Given the description of an element on the screen output the (x, y) to click on. 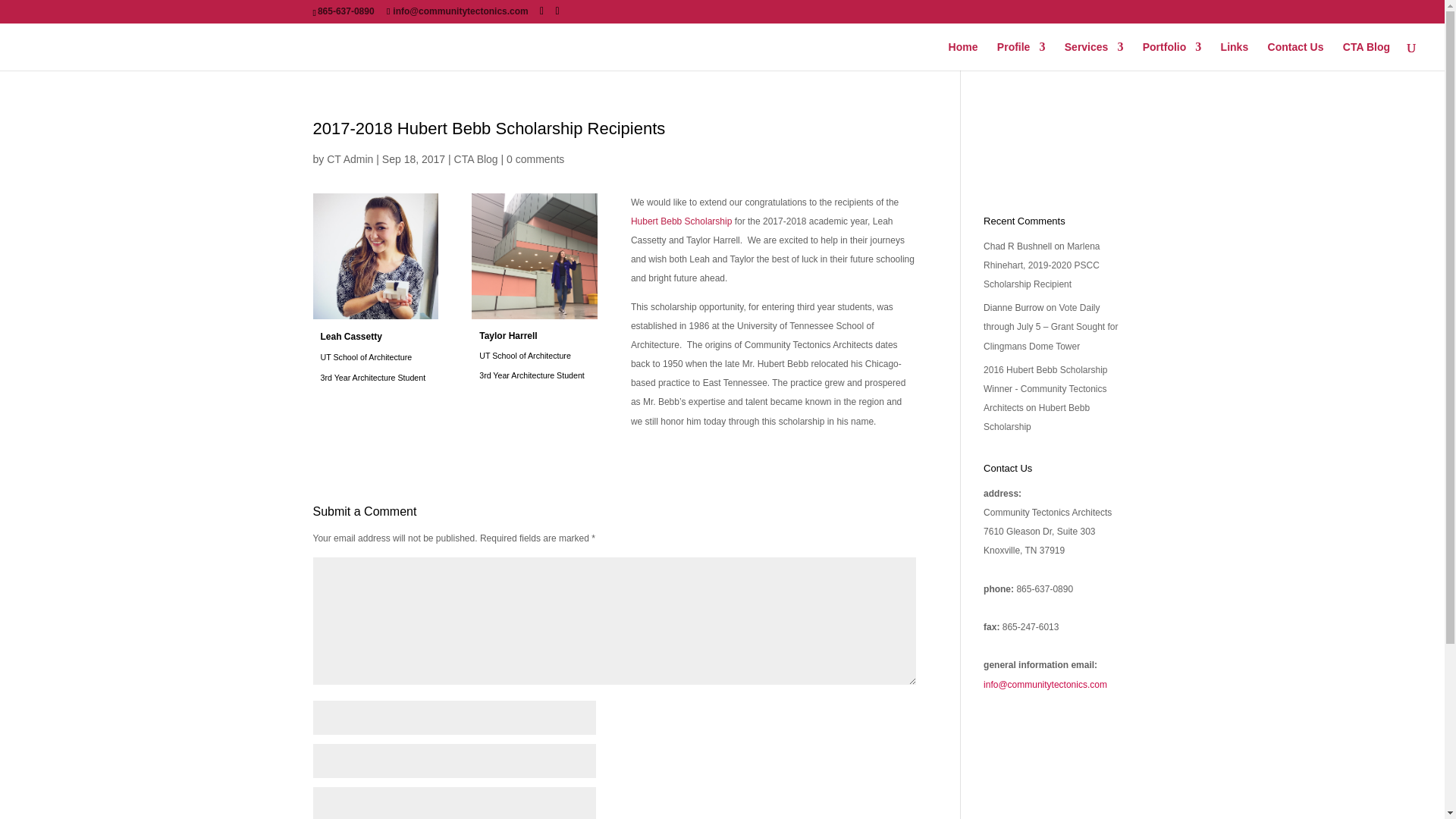
Profile (1021, 55)
Contact Us (1295, 55)
Portfolio (1172, 55)
Links (1235, 55)
Home (963, 55)
Posts by CT Admin (349, 159)
Leah Cassetty (375, 256)
Services (1094, 55)
Taylor Harrell (533, 256)
CTA Blog (1366, 55)
